Given the description of an element on the screen output the (x, y) to click on. 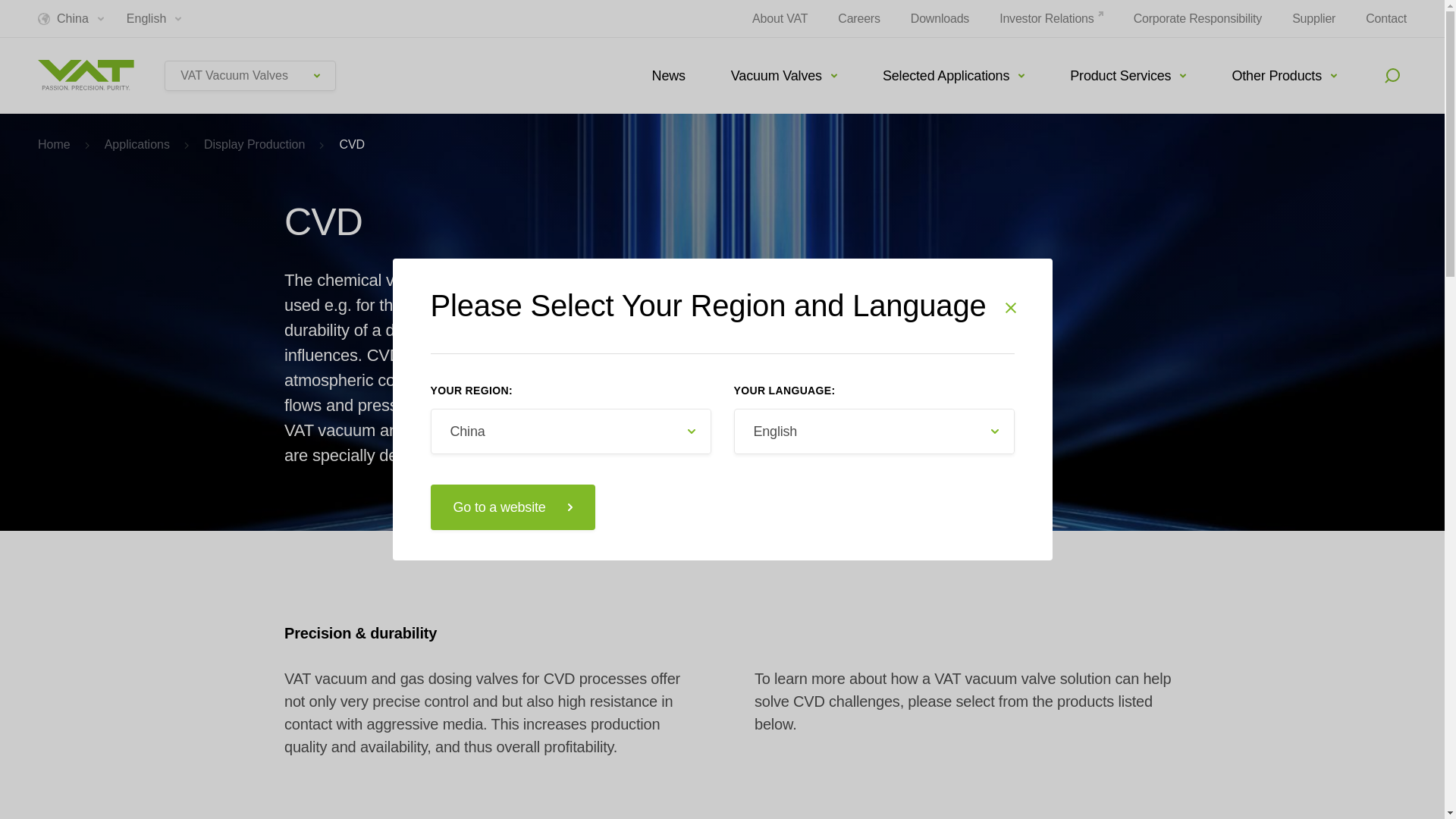
Vacuum Valves (783, 75)
Investor Relations (1050, 18)
Supplier (1313, 18)
Contact (1385, 18)
Corporate Responsibility (1198, 18)
Downloads (940, 18)
Careers (859, 18)
About VAT (780, 18)
News (667, 75)
